Given the description of an element on the screen output the (x, y) to click on. 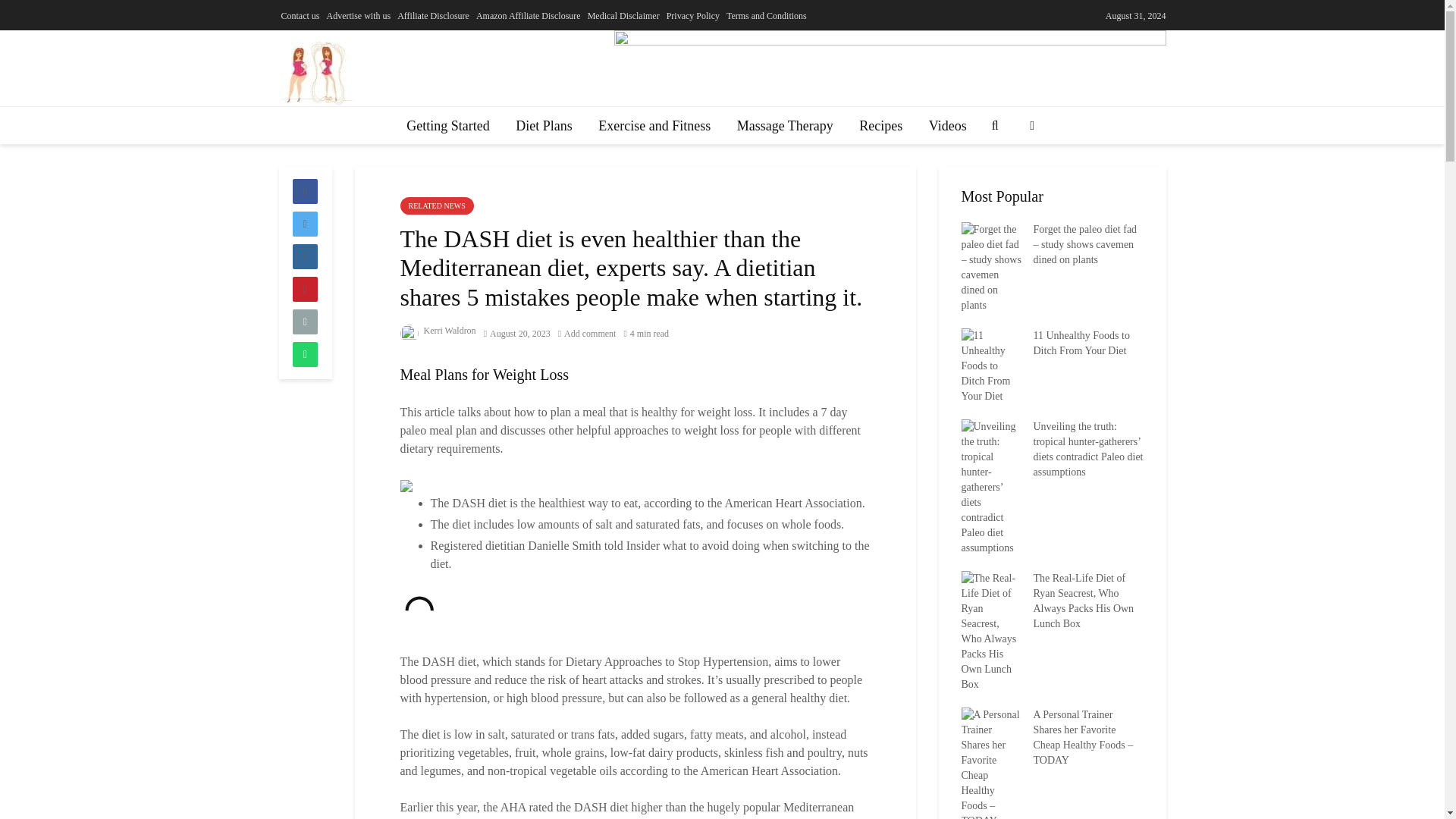
Massage Therapy (784, 125)
11 Unhealthy Foods to Ditch From Your Diet (991, 365)
Recipes (880, 125)
Terms and Conditions (766, 15)
Affiliate Disclosure (432, 15)
Medical Disclaimer (623, 15)
Advertise with us (358, 15)
Exercise and Fitness (654, 125)
Contact us (299, 15)
Amazon Affiliate Disclosure (528, 15)
